Given the description of an element on the screen output the (x, y) to click on. 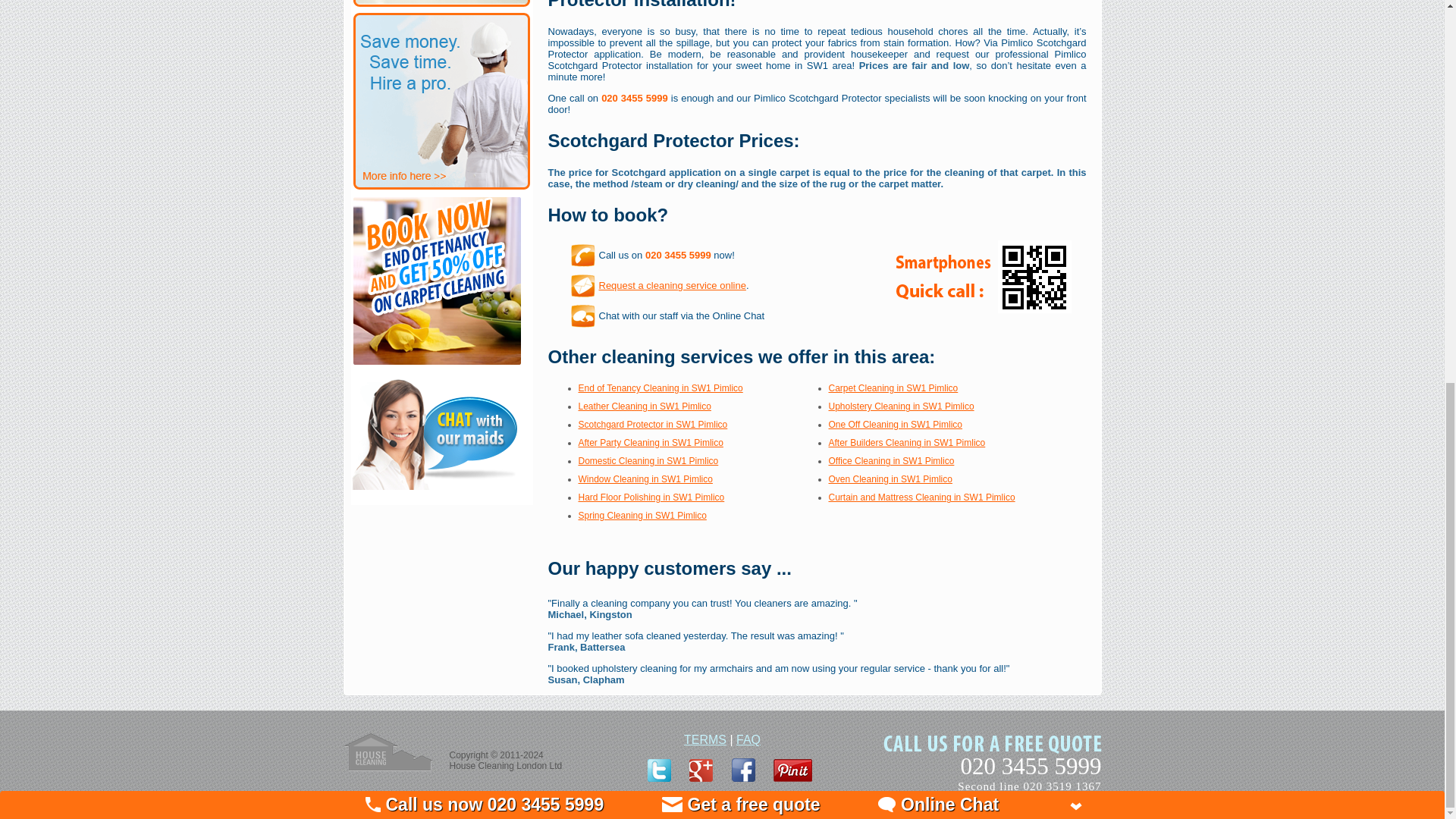
Upholstery Cleaning in SW1 Pimlico (901, 406)
Carpet Cleaning in SW1 Pimlico (893, 388)
End of Tenancy Cleaning SW1 (660, 388)
End of Tenancy Cleaning in SW1 Pimlico (660, 388)
Request a cleaning service online (671, 285)
Domestic Cleaning in SW1 Pimlico (647, 460)
One Off Cleaning in SW1 Pimlico (895, 424)
Leather Cleaning in SW1 Pimlico (644, 406)
After Builders Cleaning in SW1 Pimlico (906, 442)
After Party Cleaning in SW1 Pimlico (650, 442)
